Given the description of an element on the screen output the (x, y) to click on. 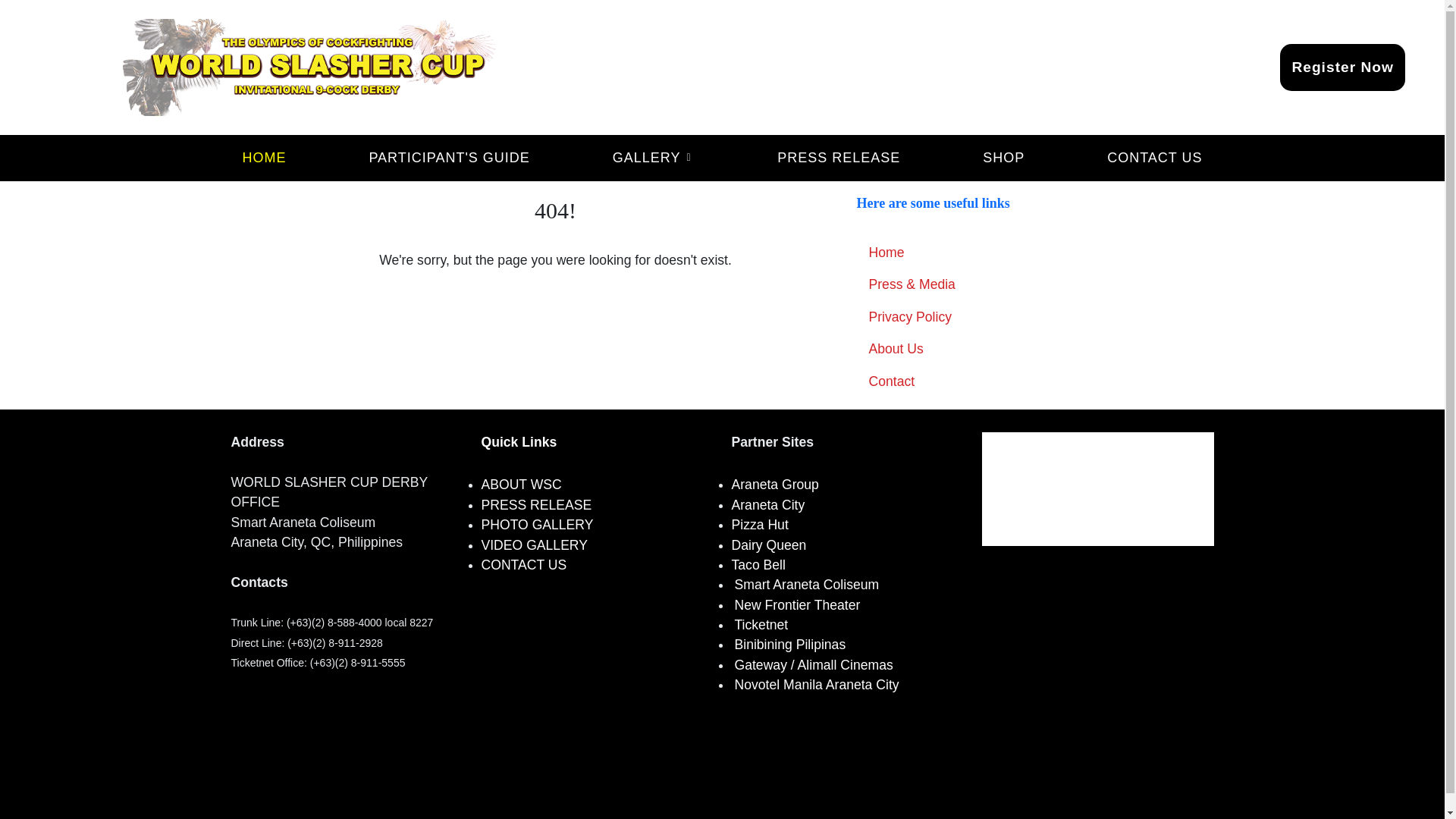
Smart Araneta Coliseum (806, 584)
PARTICIPANT'S GUIDE (448, 157)
PHOTO GALLERY (536, 526)
PRESS RELEASE (838, 157)
SHOP (1003, 157)
CONTACT US (523, 566)
New Frontier Theater (796, 604)
Binibining Pilipinas (789, 644)
Araneta City (767, 504)
Araneta Group (774, 484)
ABOUT WSC (520, 487)
VIDEO GALLERY (533, 546)
Ticketnet (760, 624)
HOME (263, 157)
Register Now (1342, 67)
